Given the description of an element on the screen output the (x, y) to click on. 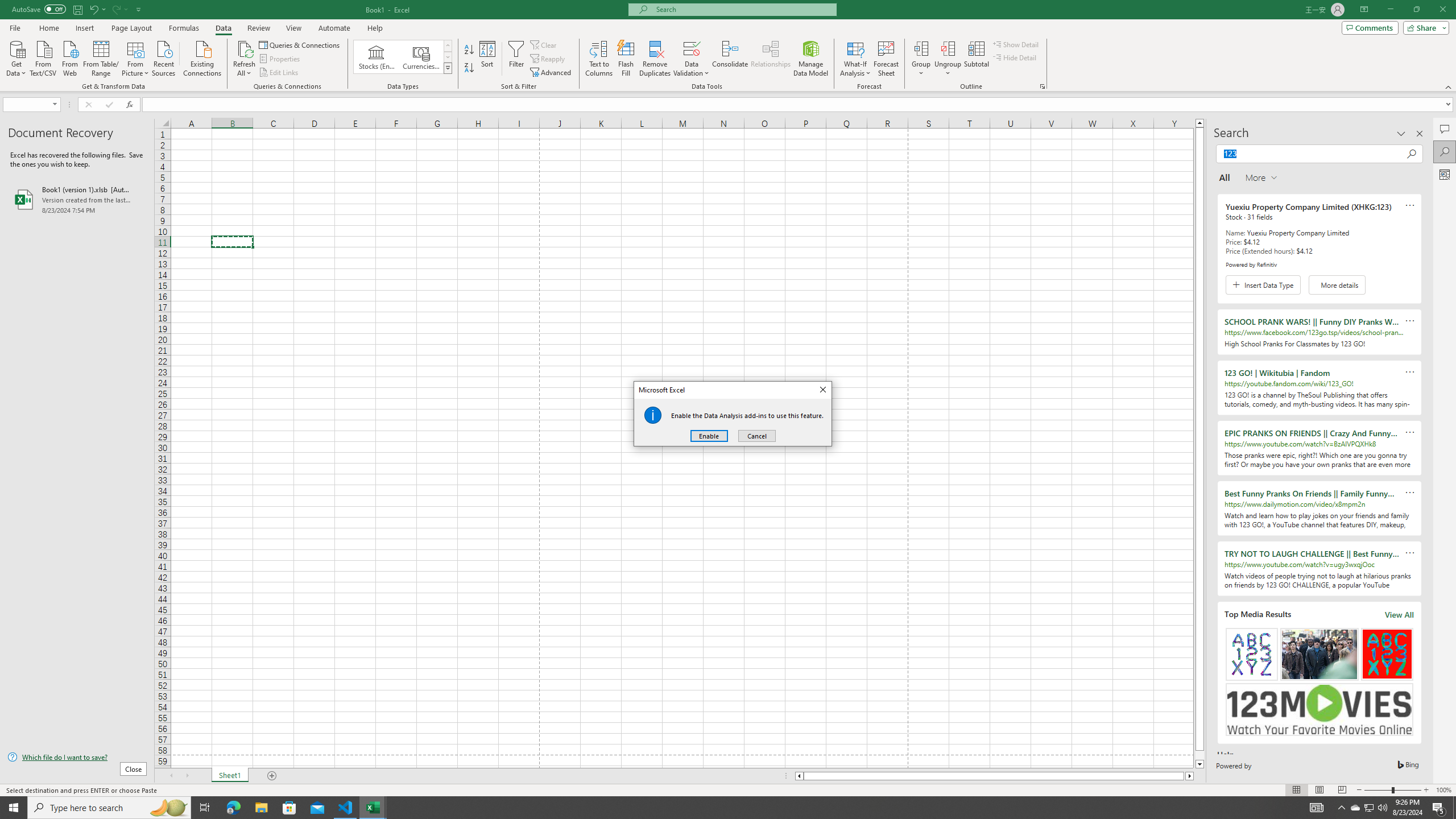
Microsoft Store (289, 807)
Show desktop (1454, 807)
